Given the description of an element on the screen output the (x, y) to click on. 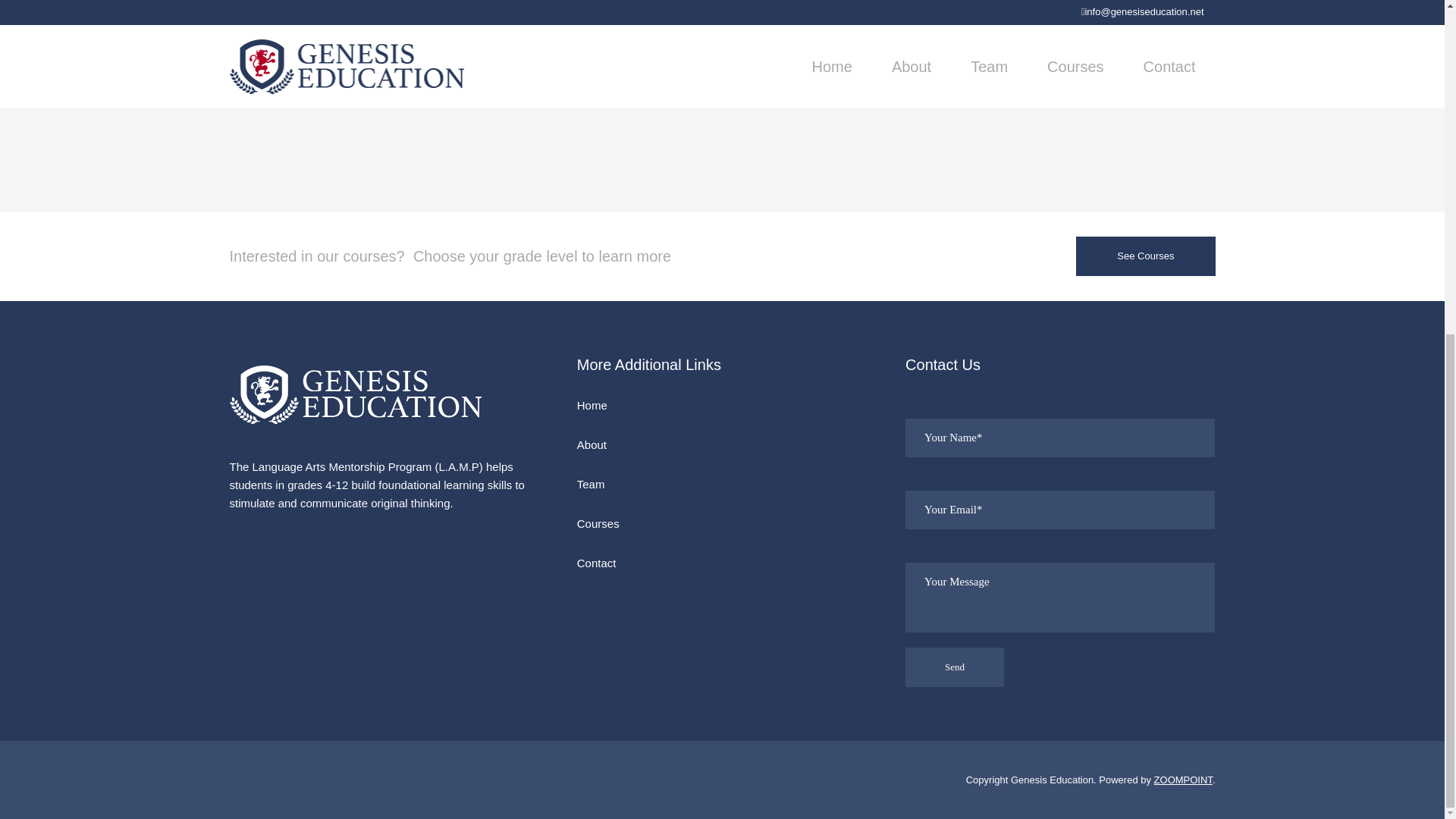
Courses (418, 26)
Home (729, 405)
ZOOMPOINT (1183, 778)
Contact (729, 562)
About (729, 444)
Send (954, 667)
Team (729, 483)
Courses (729, 523)
See Courses (1144, 256)
Send (954, 667)
